Given the description of an element on the screen output the (x, y) to click on. 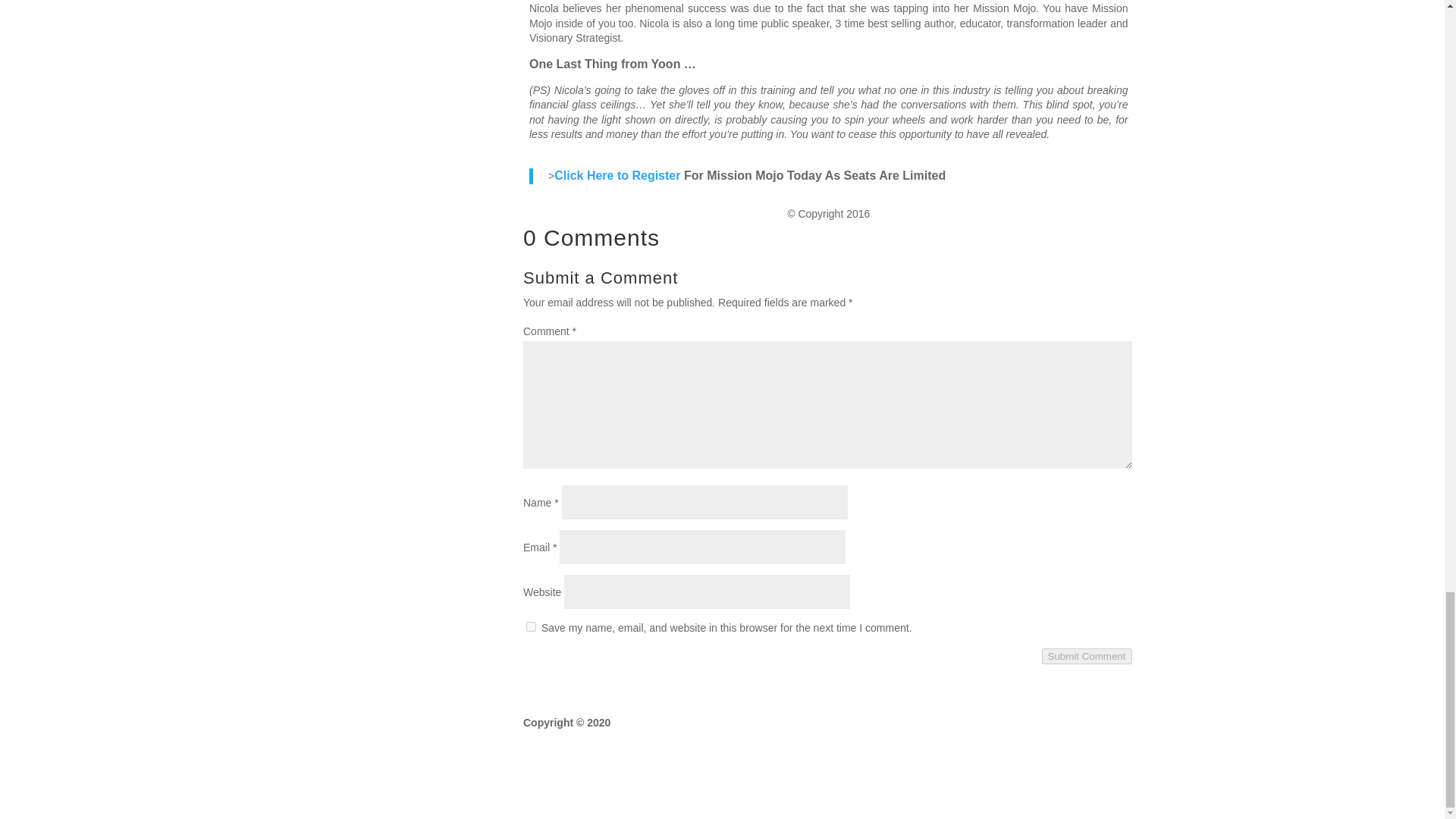
yes (530, 626)
